Given the description of an element on the screen output the (x, y) to click on. 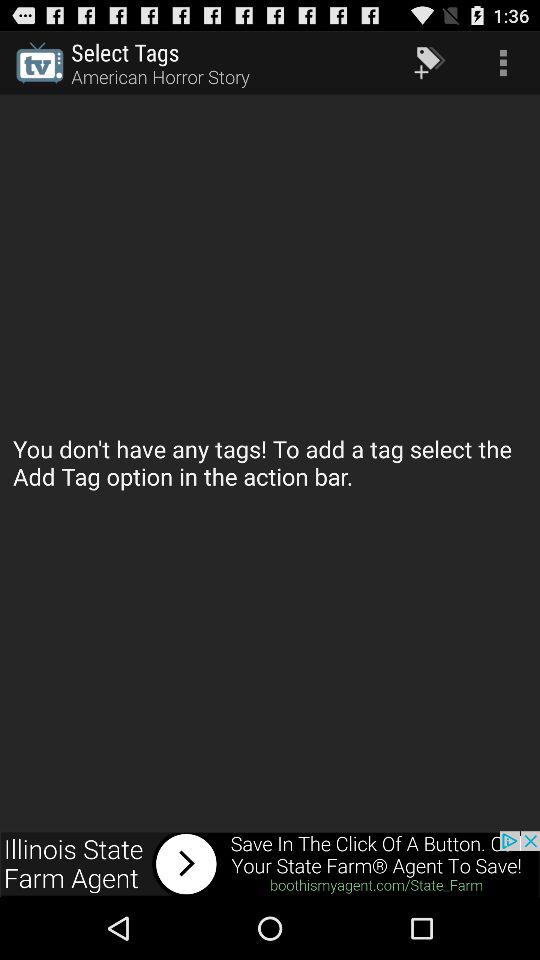
advertisement (270, 864)
